Given the description of an element on the screen output the (x, y) to click on. 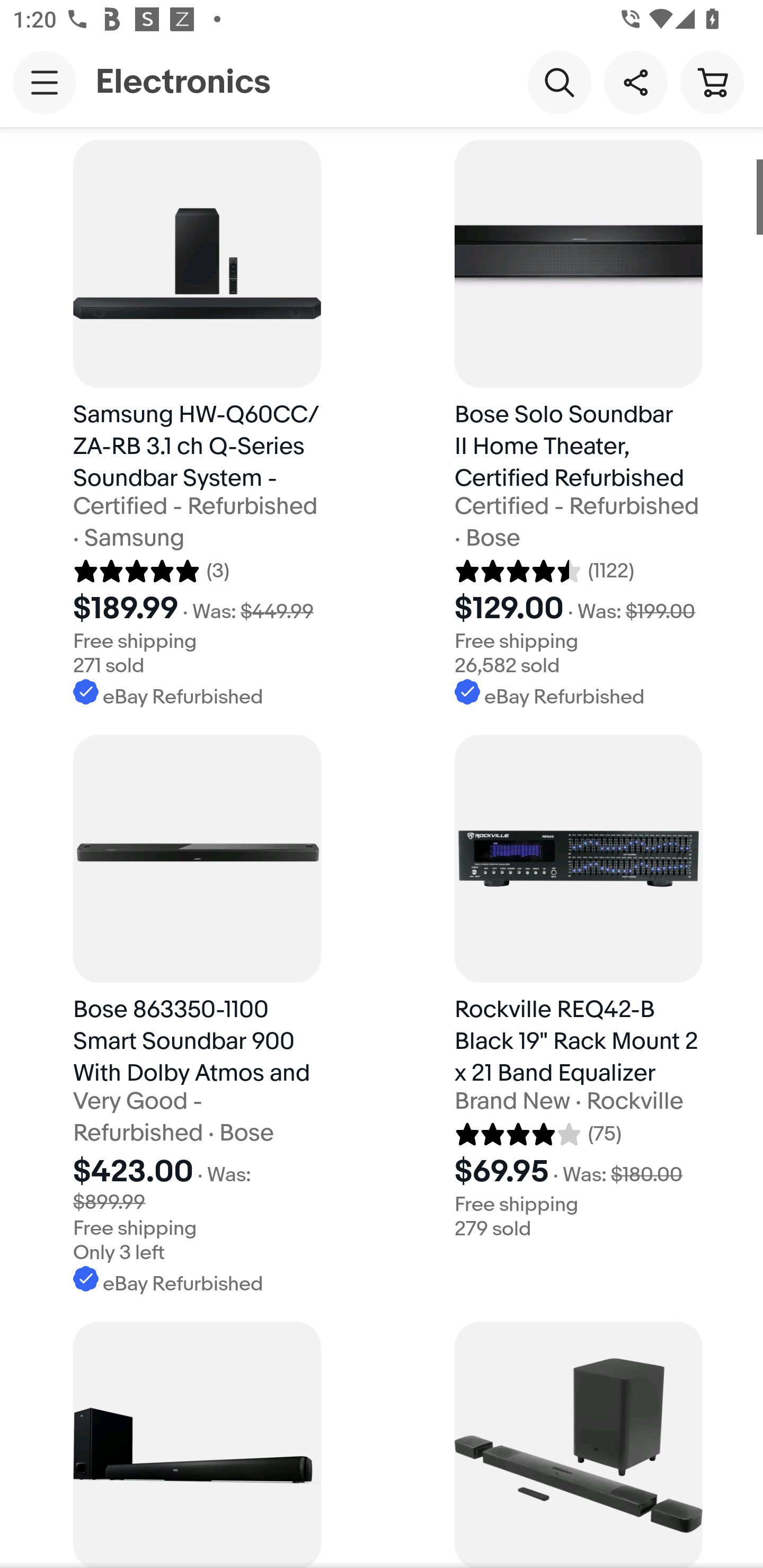
Main navigation, open (44, 82)
Search (559, 81)
Share this page (635, 81)
Cart button shopping cart (711, 81)
